Given the description of an element on the screen output the (x, y) to click on. 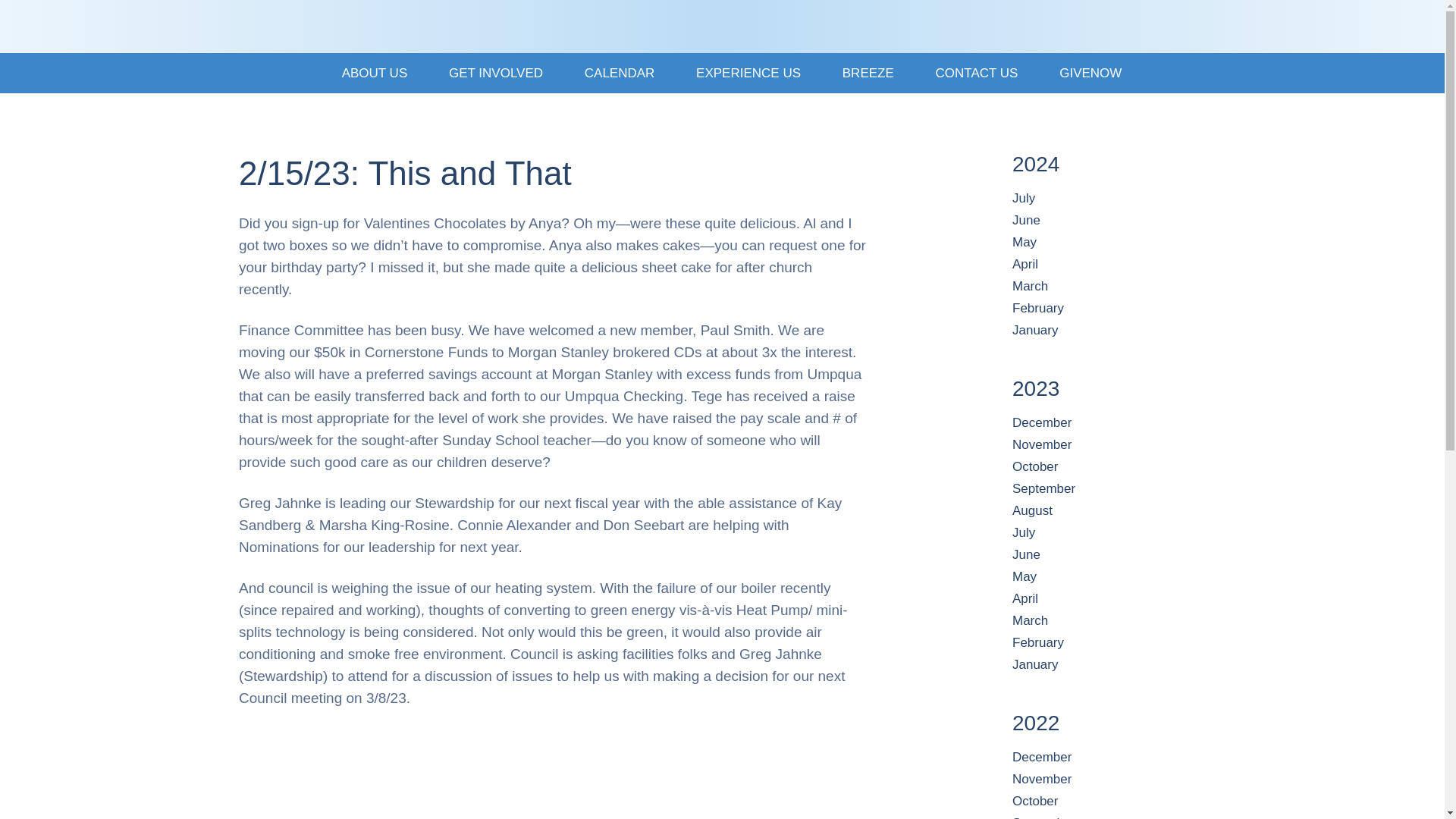
BREEZE (868, 73)
CONTACT US (976, 73)
ABOUT US (374, 73)
GIVENOW (1081, 73)
EXPERIENCE US (748, 73)
GET INVOLVED (495, 73)
CALENDAR (620, 73)
